Given the description of an element on the screen output the (x, y) to click on. 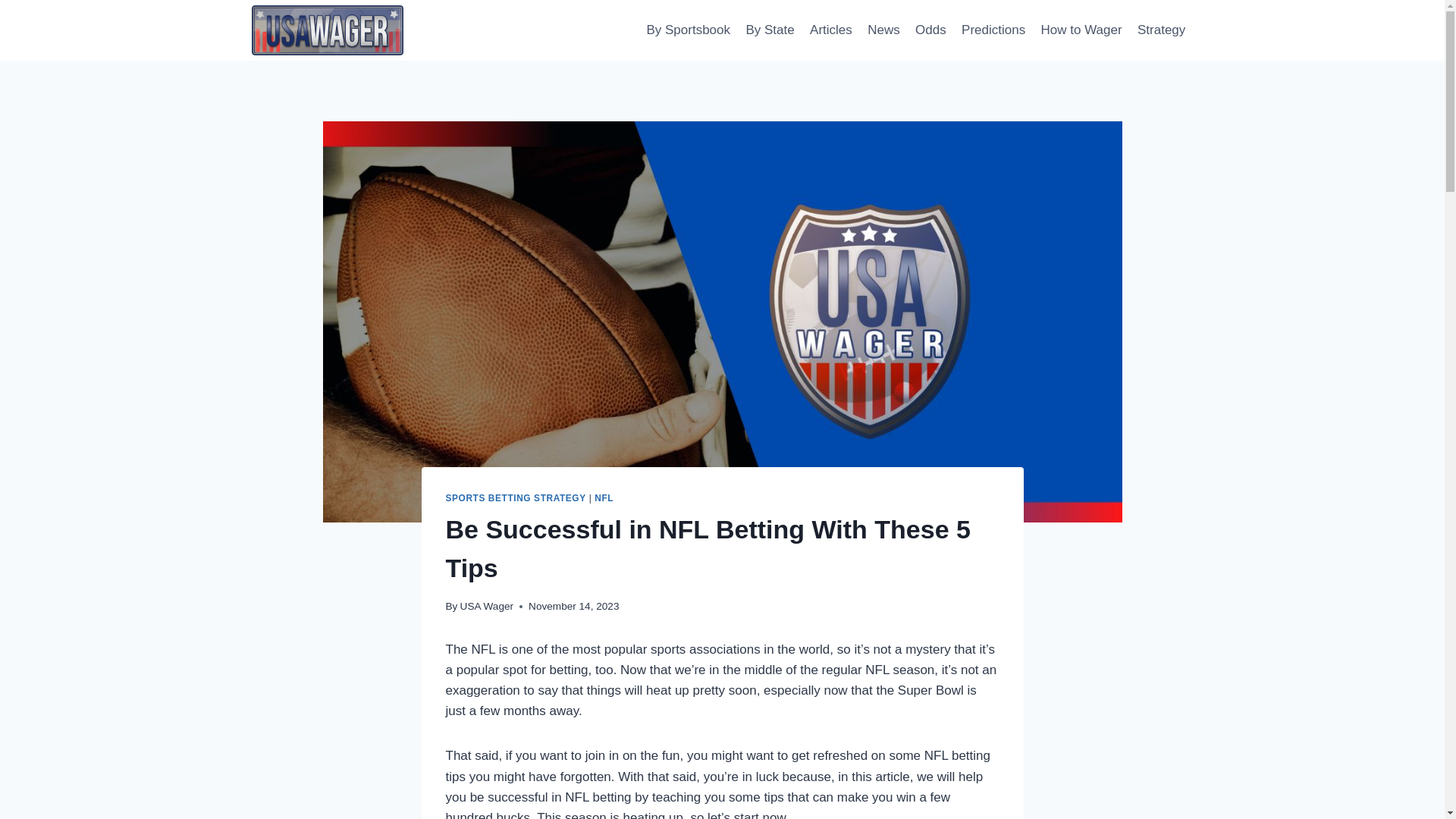
How to Wager (1080, 30)
USA Wager (486, 605)
Predictions (992, 30)
Strategy (1161, 30)
By Sportsbook (688, 30)
News (883, 30)
By State (770, 30)
Articles (831, 30)
Odds (930, 30)
SPORTS BETTING STRATEGY (515, 498)
NFL (603, 498)
